Given the description of an element on the screen output the (x, y) to click on. 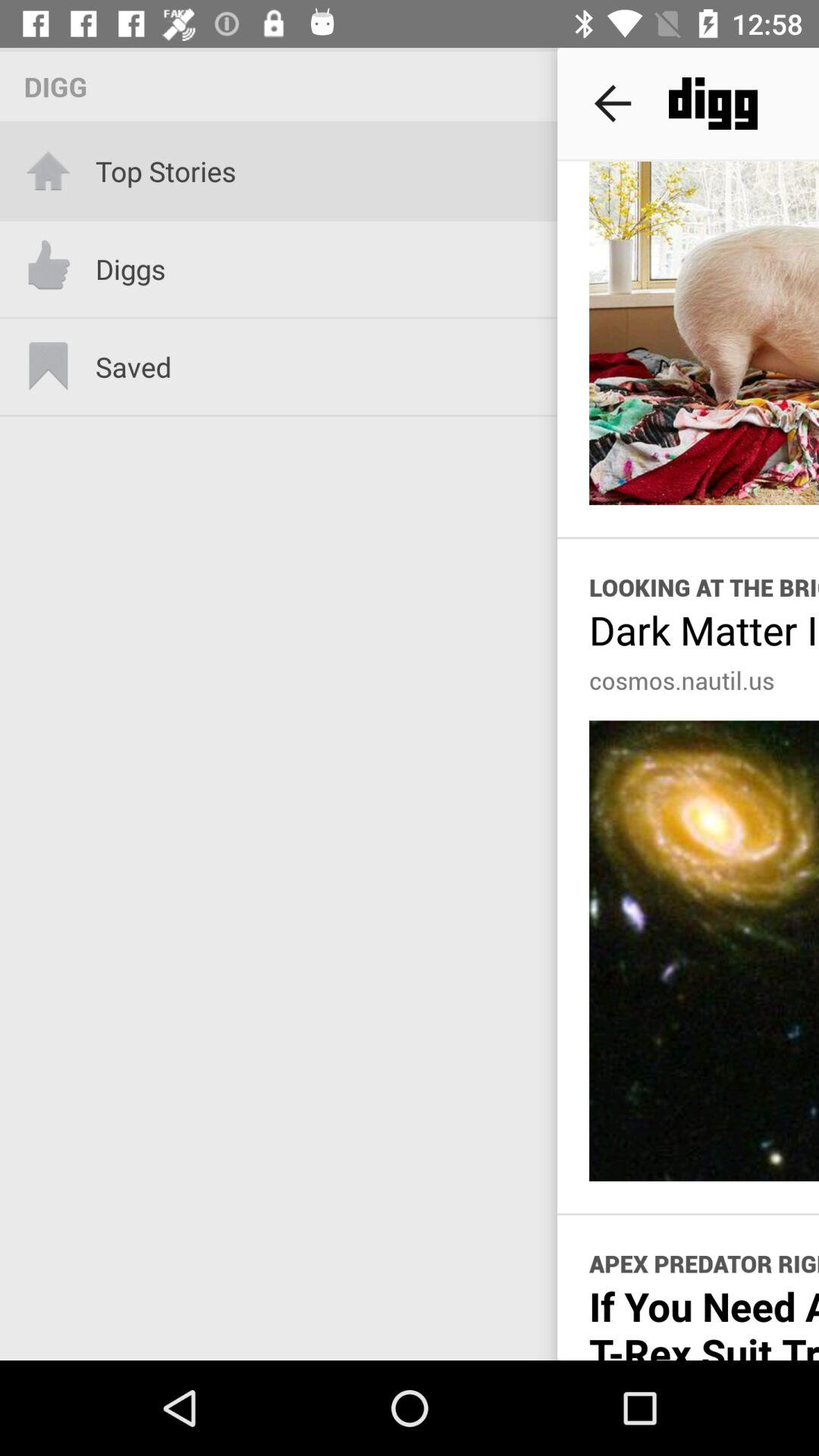
turn on the icon below the dark matter is (681, 680)
